Given the description of an element on the screen output the (x, y) to click on. 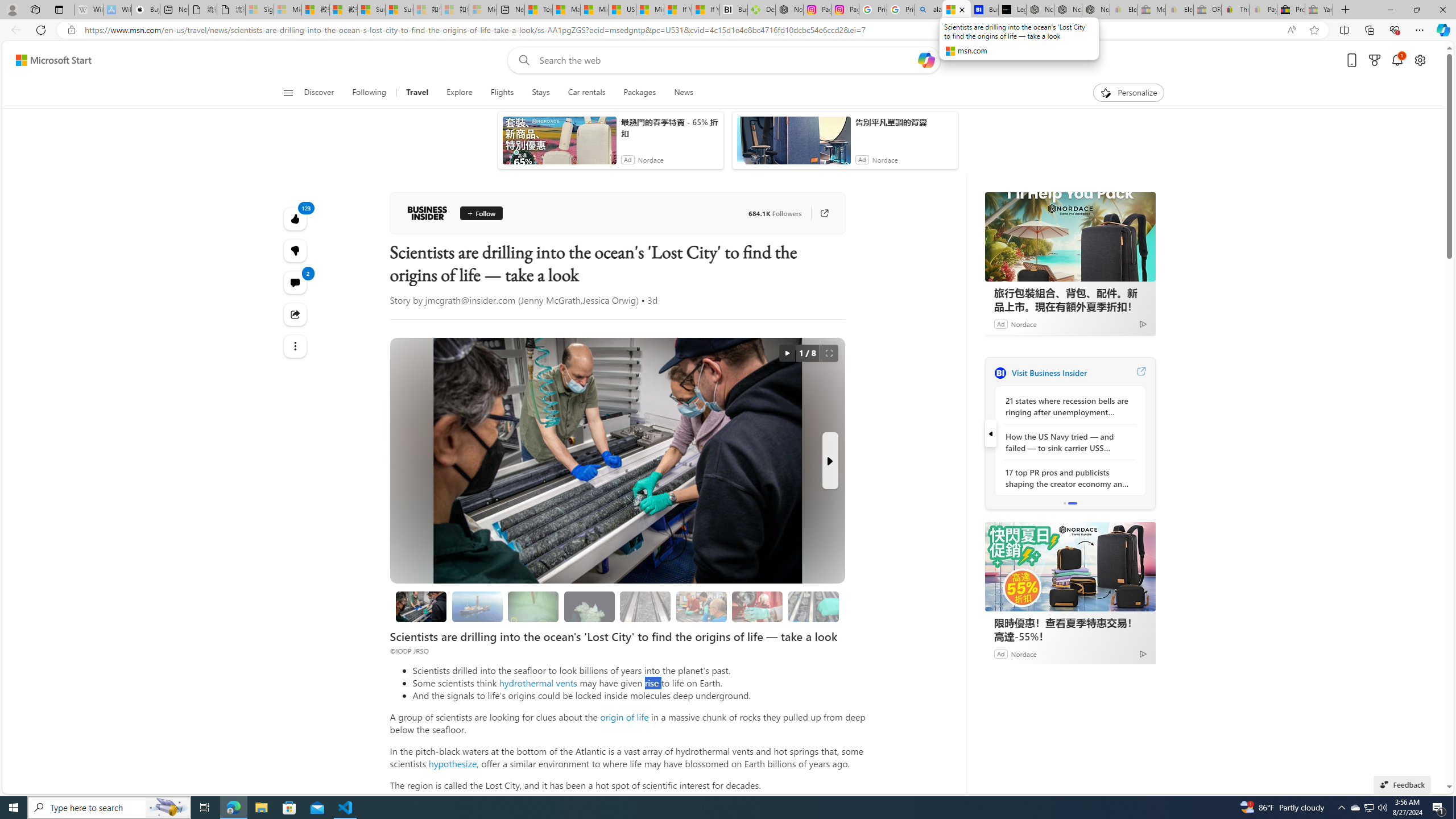
Researchers are still studying the samples (813, 606)
Looking for evidence of oxygen-free life (700, 606)
Explore (458, 92)
Microsoft account | Account Checkup - Sleeping (483, 9)
Car rentals (586, 92)
Business Insider (1000, 372)
The Lost City could hold clues to the origin of life. (588, 606)
Flights (501, 92)
